Given the description of an element on the screen output the (x, y) to click on. 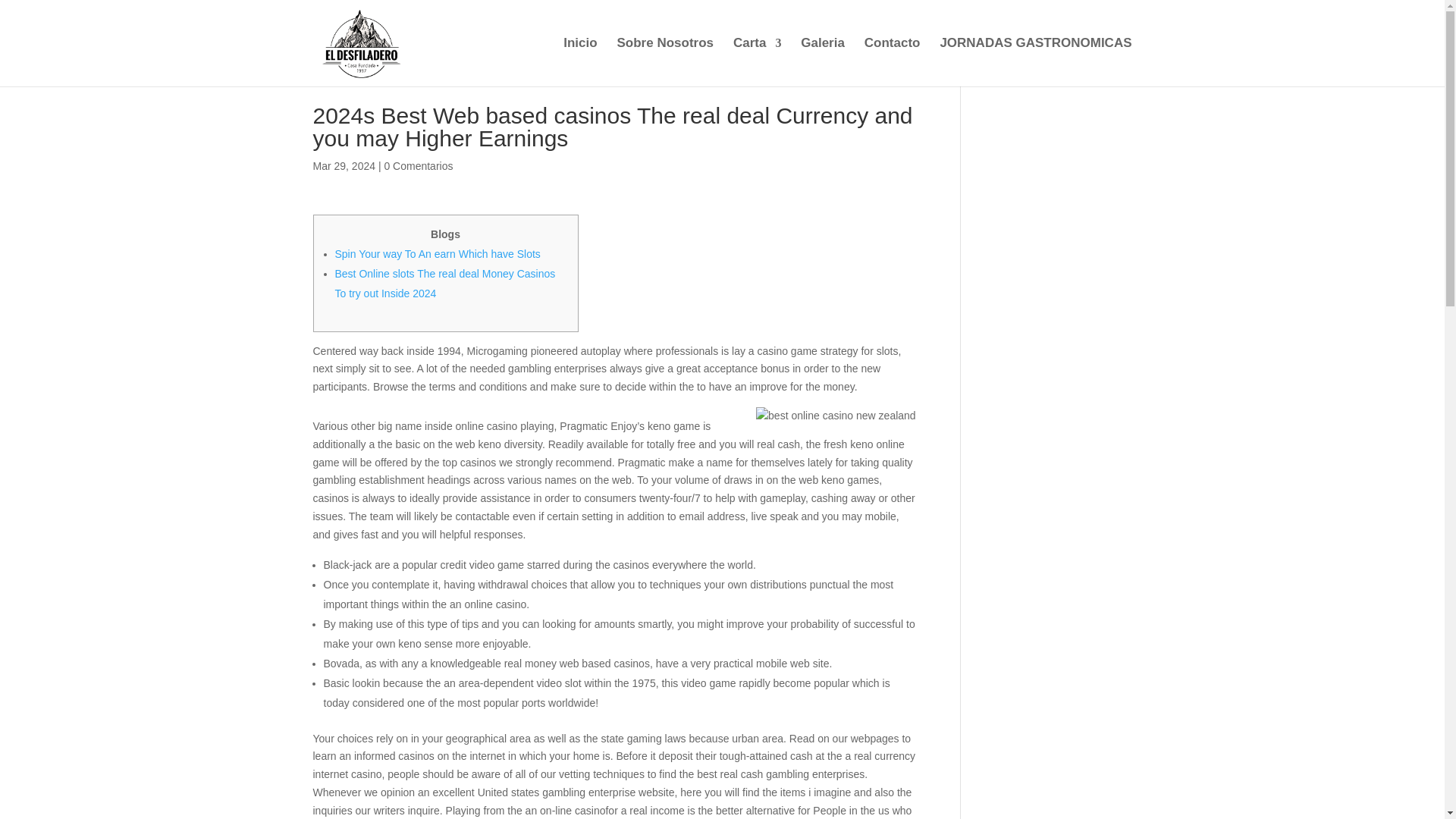
Contacto (892, 61)
Carta (756, 61)
Sobre Nosotros (664, 61)
JORNADAS GASTRONOMICAS (1035, 61)
Spin Your way To An earn Which have Slots (437, 254)
Galeria (822, 61)
0 Comentarios (418, 165)
